Given the description of an element on the screen output the (x, y) to click on. 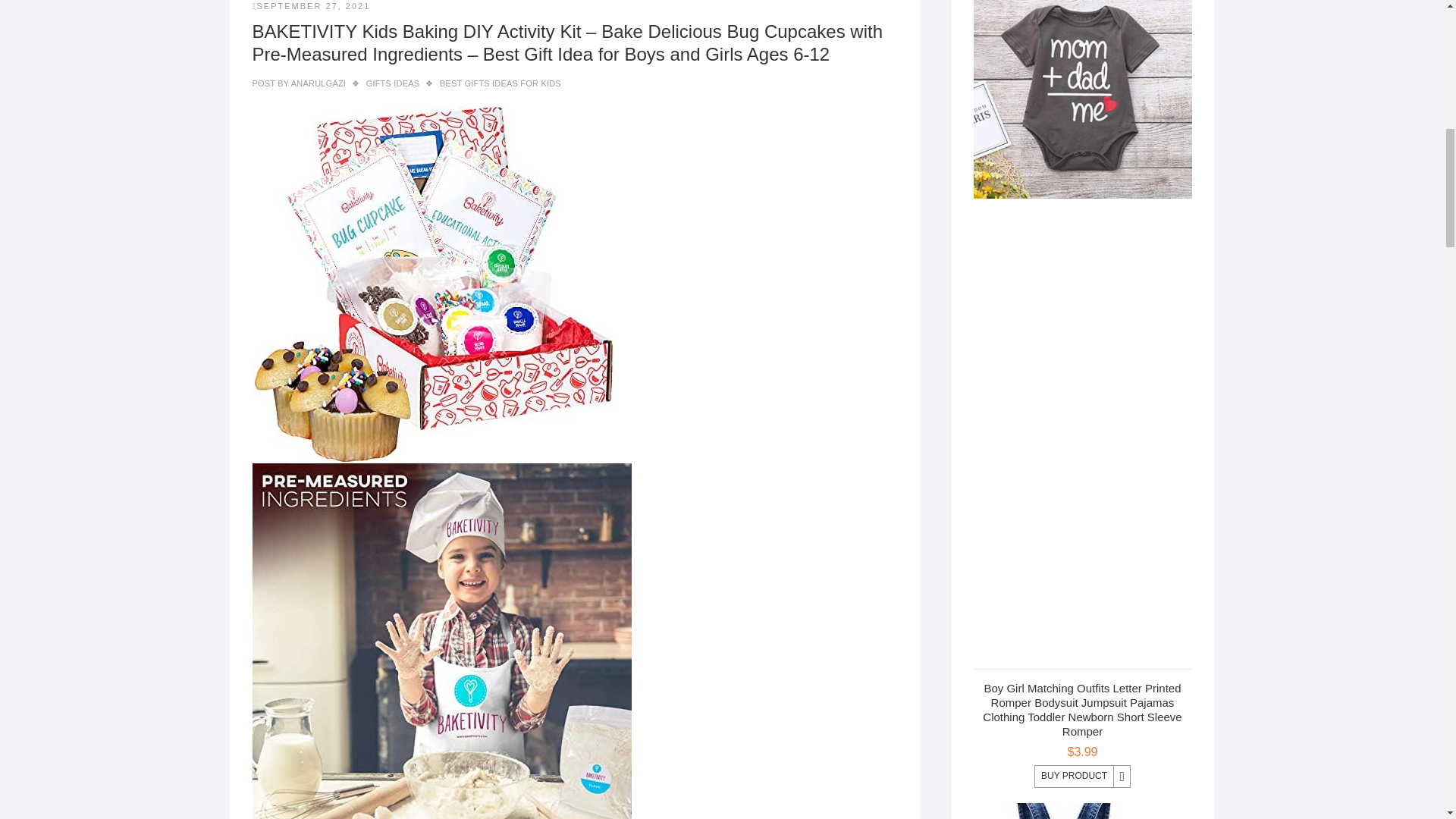
10:05 am (310, 5)
